Given the description of an element on the screen output the (x, y) to click on. 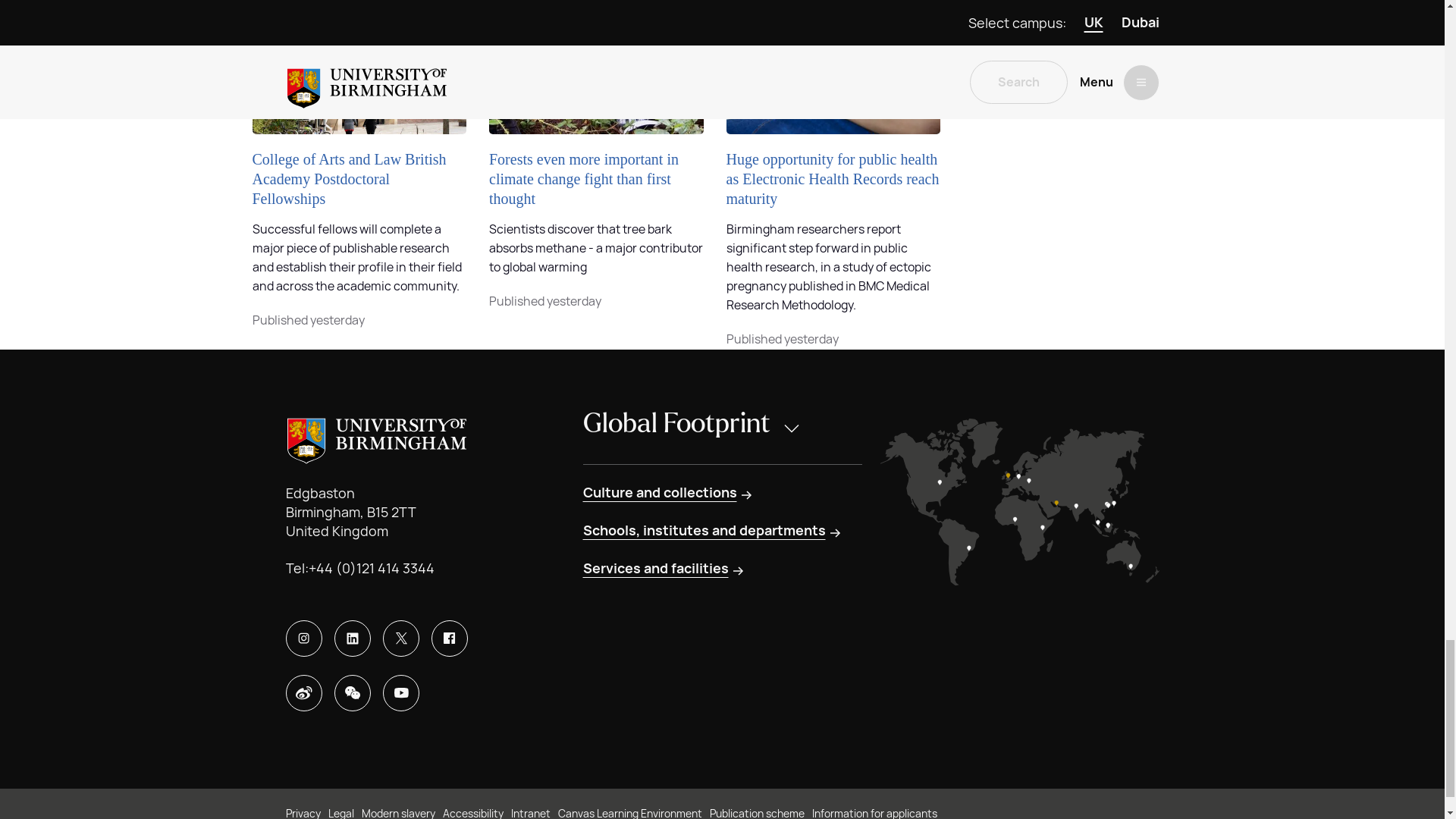
Legal (340, 812)
Services and facilities (663, 568)
Culture and collections (668, 492)
Privacy (302, 812)
Schools, institutes and departments (712, 530)
